Given the description of an element on the screen output the (x, y) to click on. 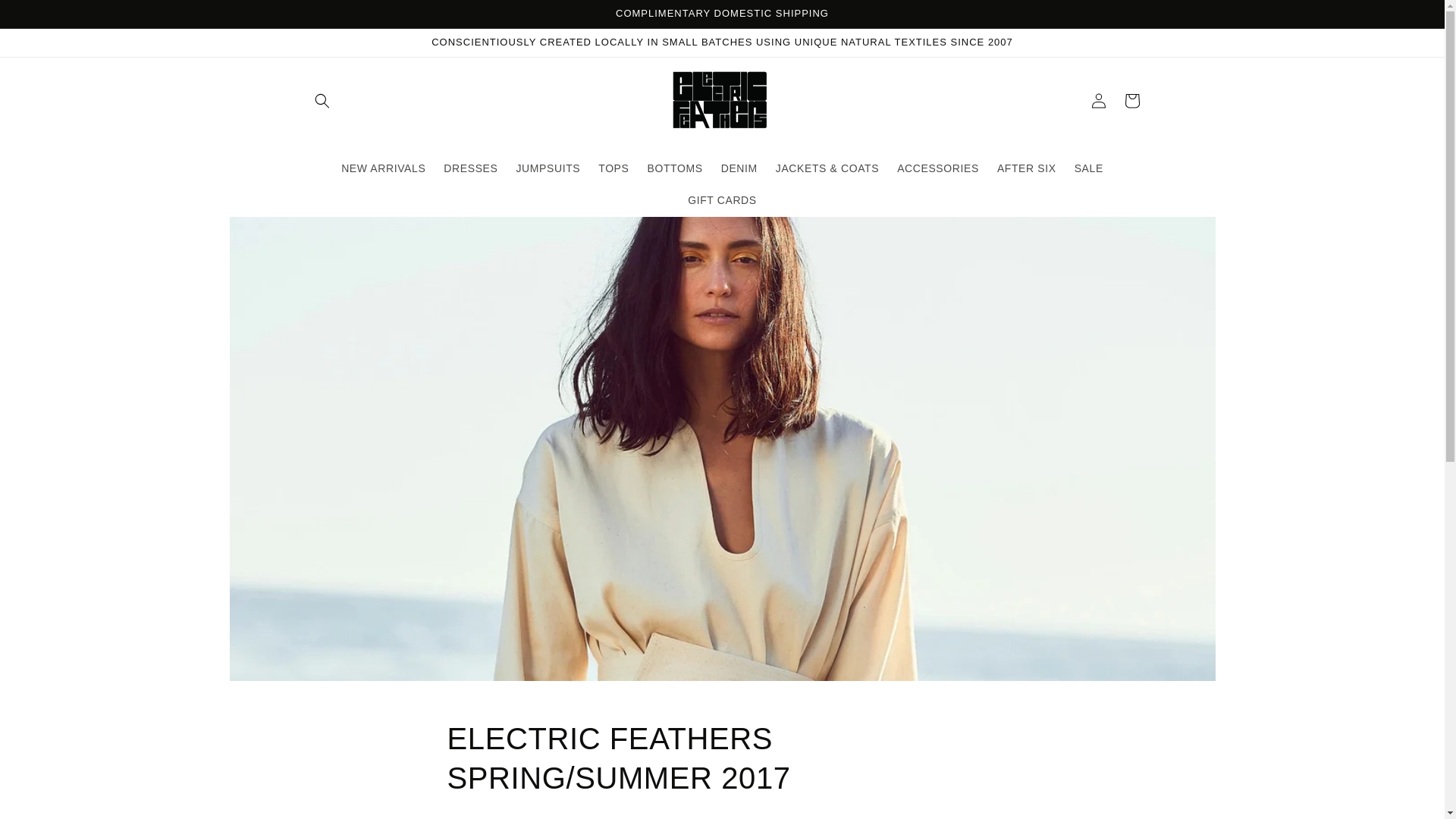
GIFT CARDS (721, 200)
ACCESSORIES (938, 168)
Skip to content (45, 17)
AFTER SIX (1026, 168)
DENIM (739, 168)
BOTTOMS (675, 168)
JUMPSUITS (547, 168)
SALE (1088, 168)
NEW ARRIVALS (382, 168)
DRESSES (469, 168)
